Given the description of an element on the screen output the (x, y) to click on. 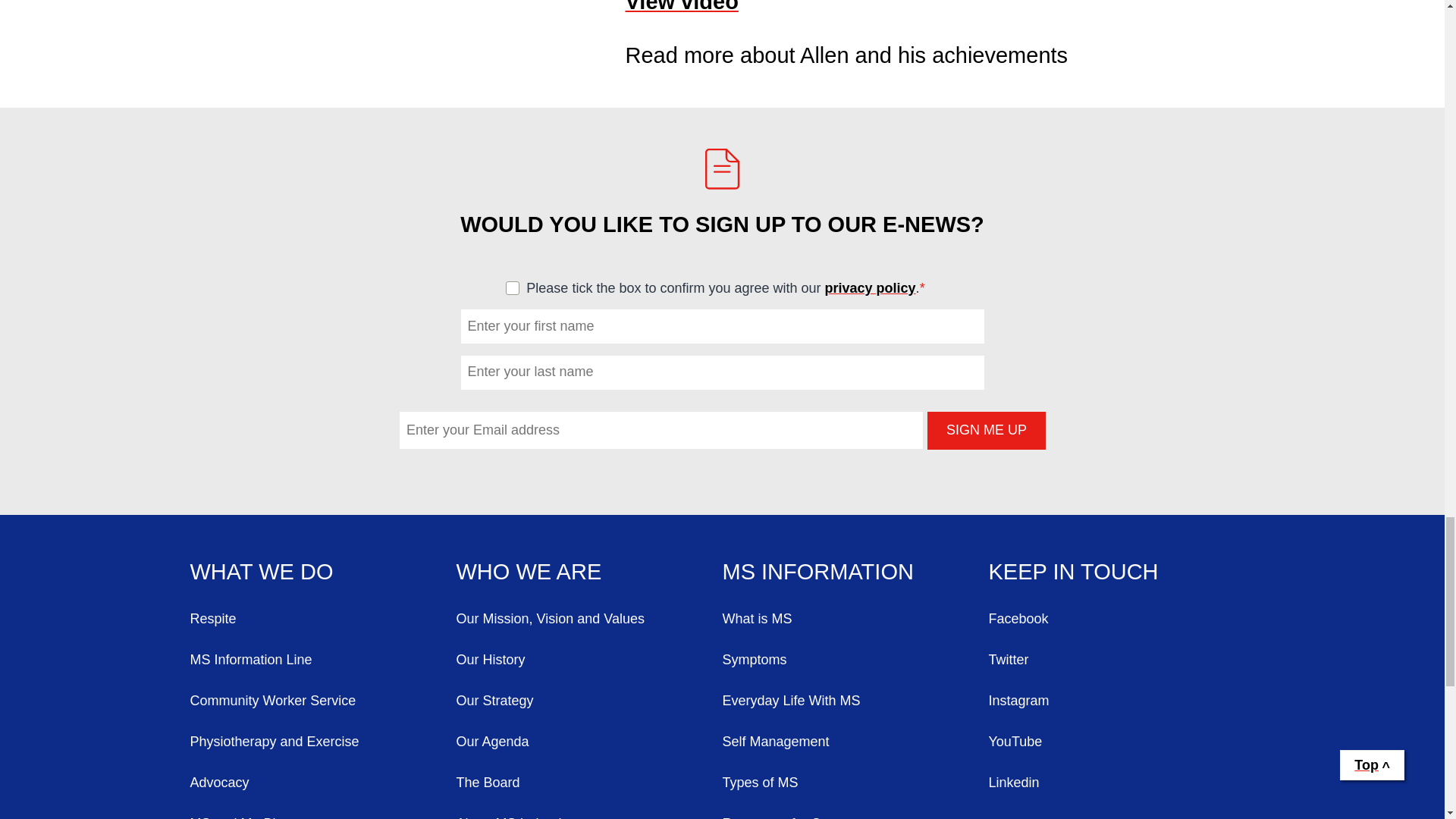
Sign Me Up (986, 430)
Subscribe to our YouTube Channel (1121, 742)
Follow us on Twitter (1121, 660)
Resources for Carers (855, 816)
Physiotherapy and Exercise (322, 742)
connect on Linkedin (1121, 783)
Like us on Facebook (1121, 619)
Follow us on Instagram (1121, 701)
